Given the description of an element on the screen output the (x, y) to click on. 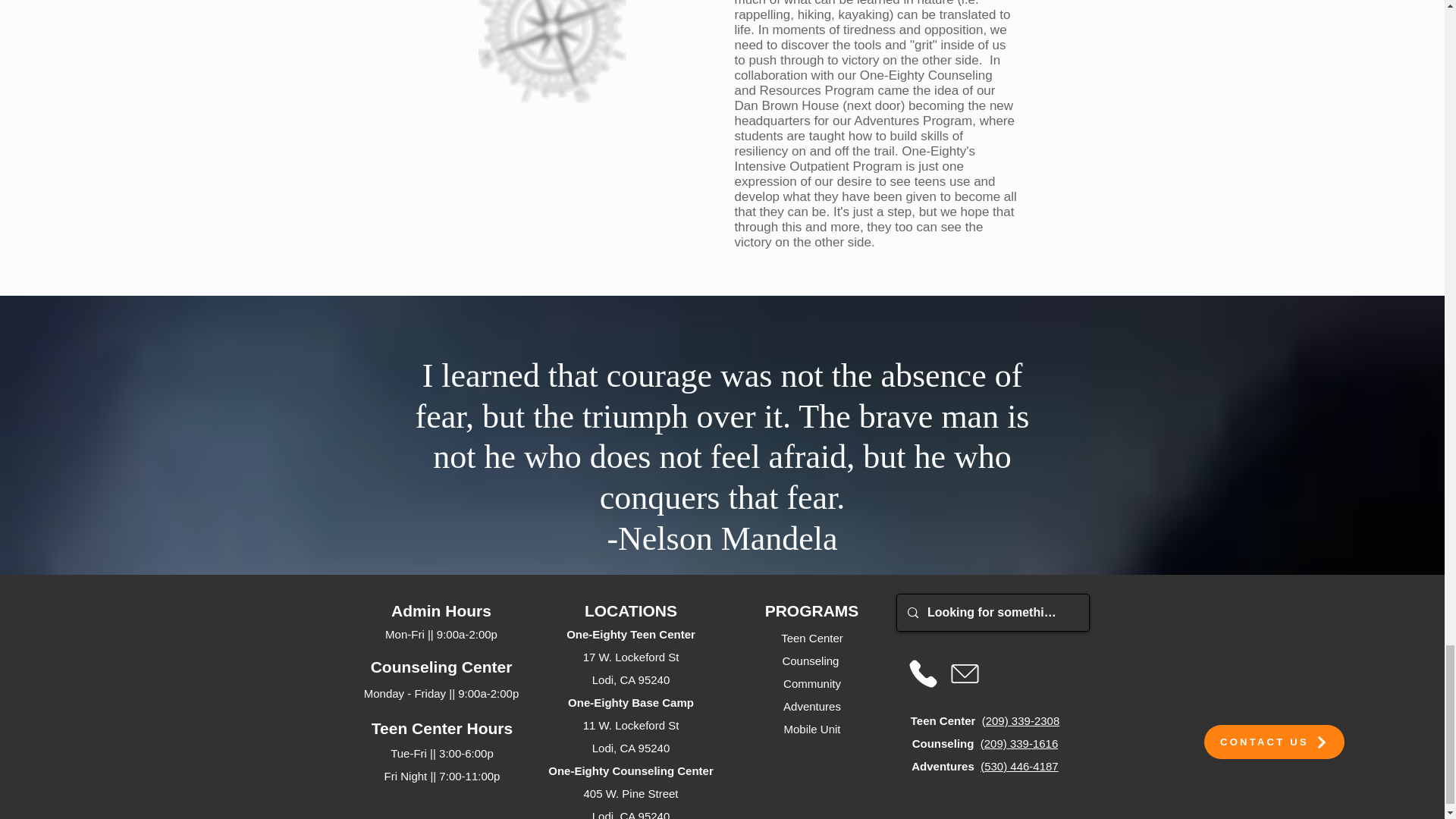
Counseling  (811, 660)
Mobile Unit (811, 728)
Community (812, 683)
Teen Center (811, 637)
Adventures (812, 706)
